Given the description of an element on the screen output the (x, y) to click on. 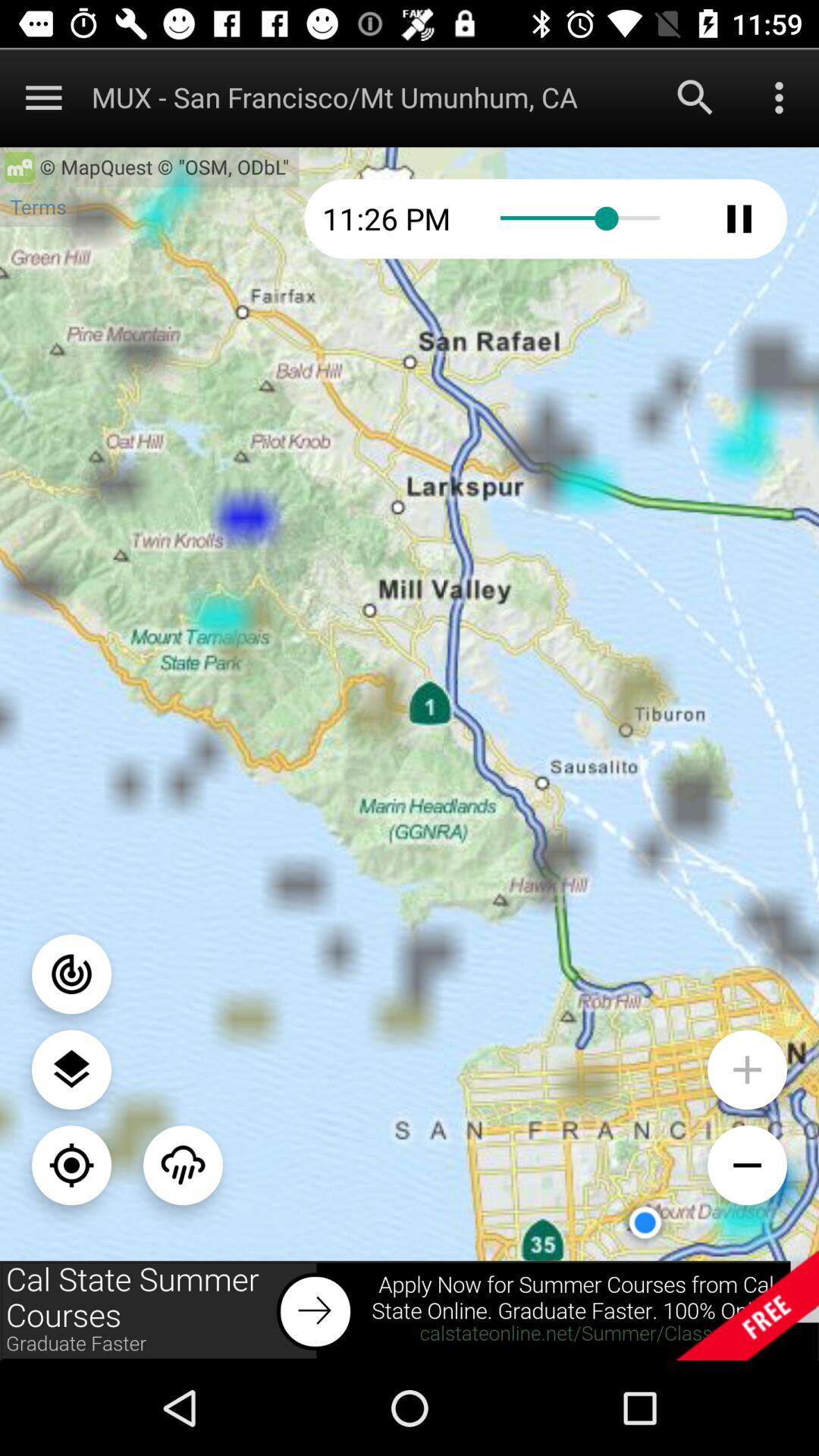
increase vision (747, 1069)
